Given the description of an element on the screen output the (x, y) to click on. 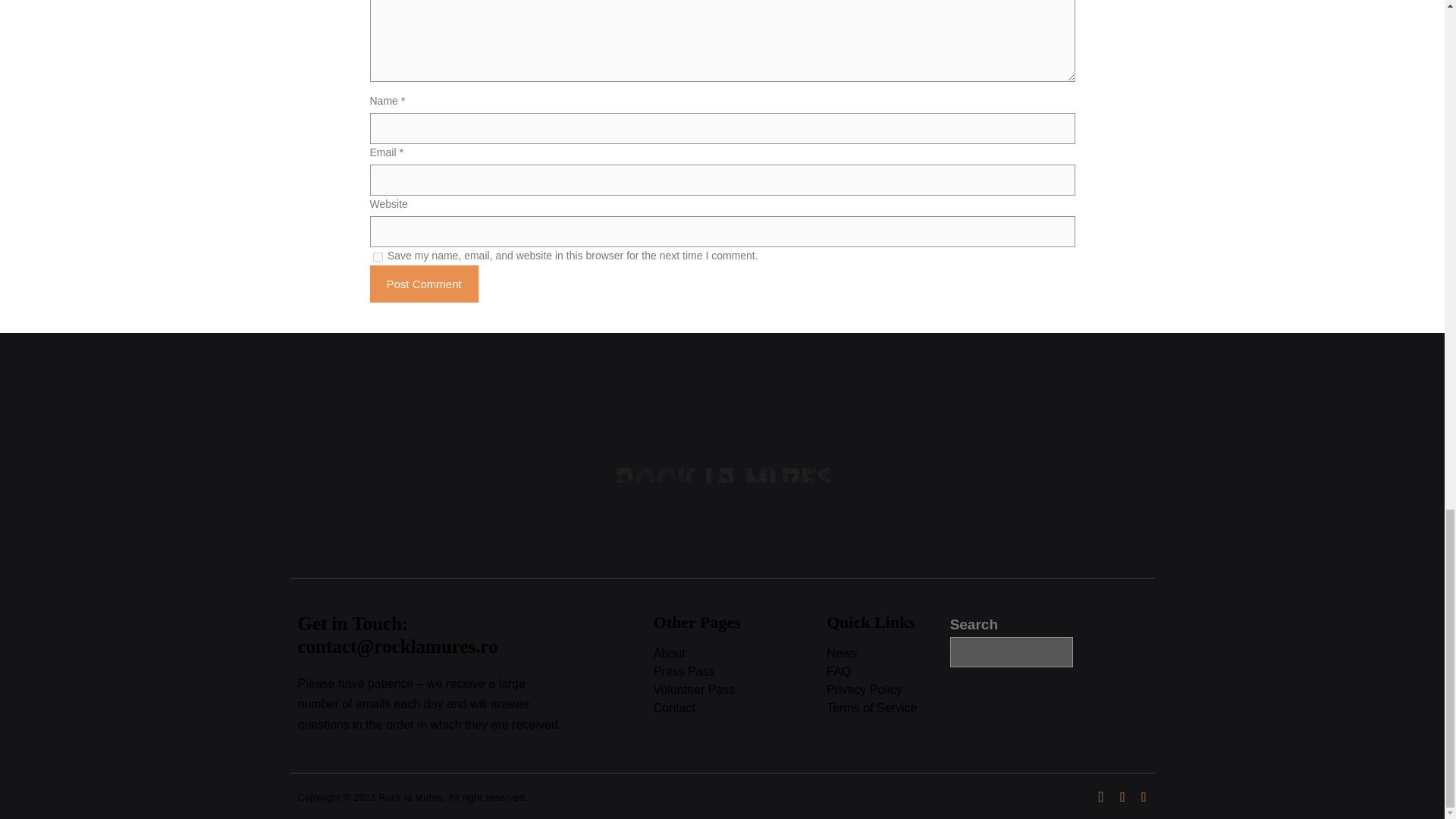
Privacy Policy (888, 689)
Contact (740, 707)
Press Pass (740, 671)
News (888, 653)
Volunteer Pass (740, 689)
Post Comment (424, 284)
FAQ (888, 671)
Terms of Service (888, 707)
Post Comment (424, 284)
About (740, 653)
